Given the description of an element on the screen output the (x, y) to click on. 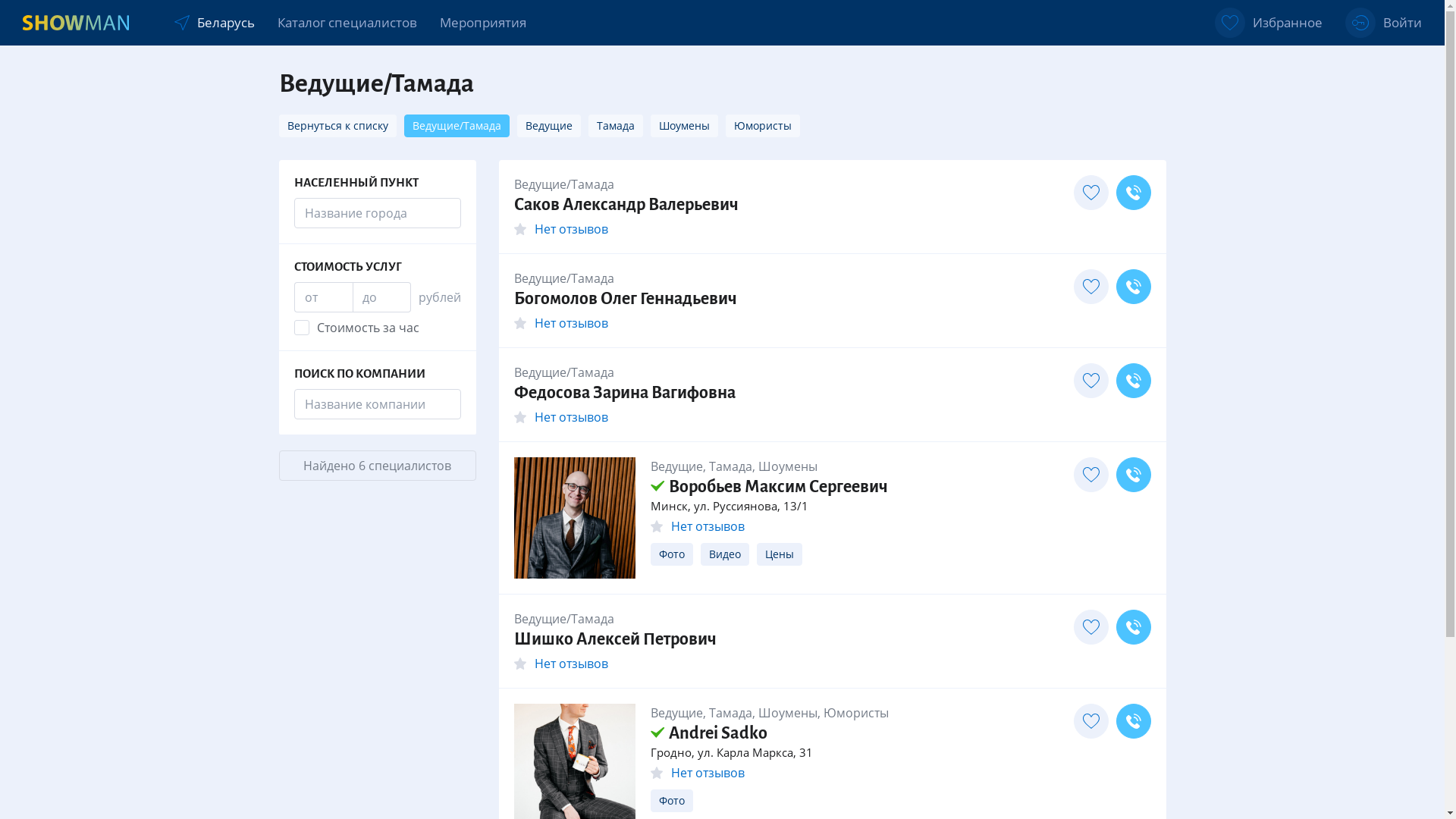
Andrei Sadko Element type: text (708, 733)
